Given the description of an element on the screen output the (x, y) to click on. 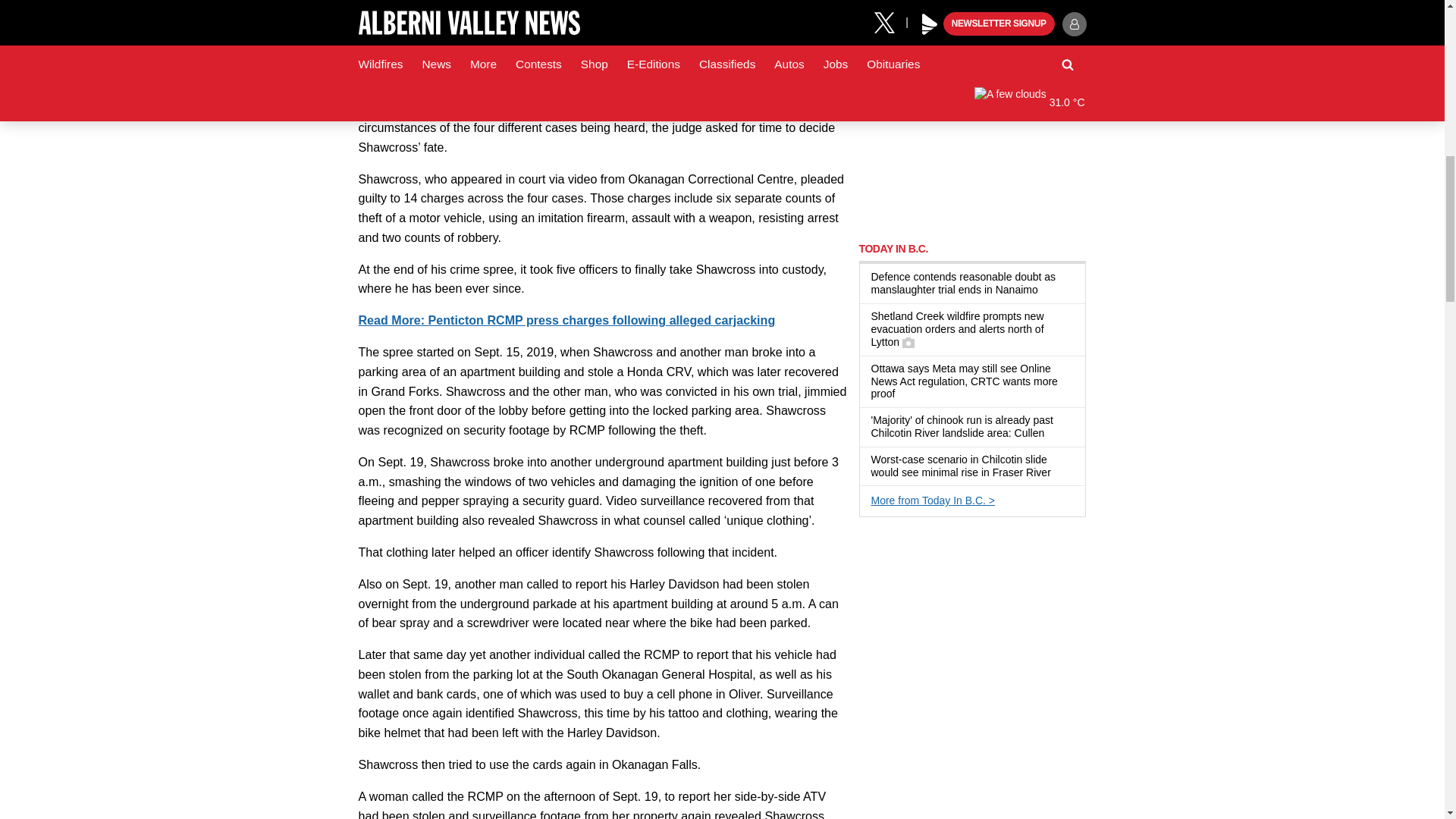
Has a gallery (908, 342)
